Given the description of an element on the screen output the (x, y) to click on. 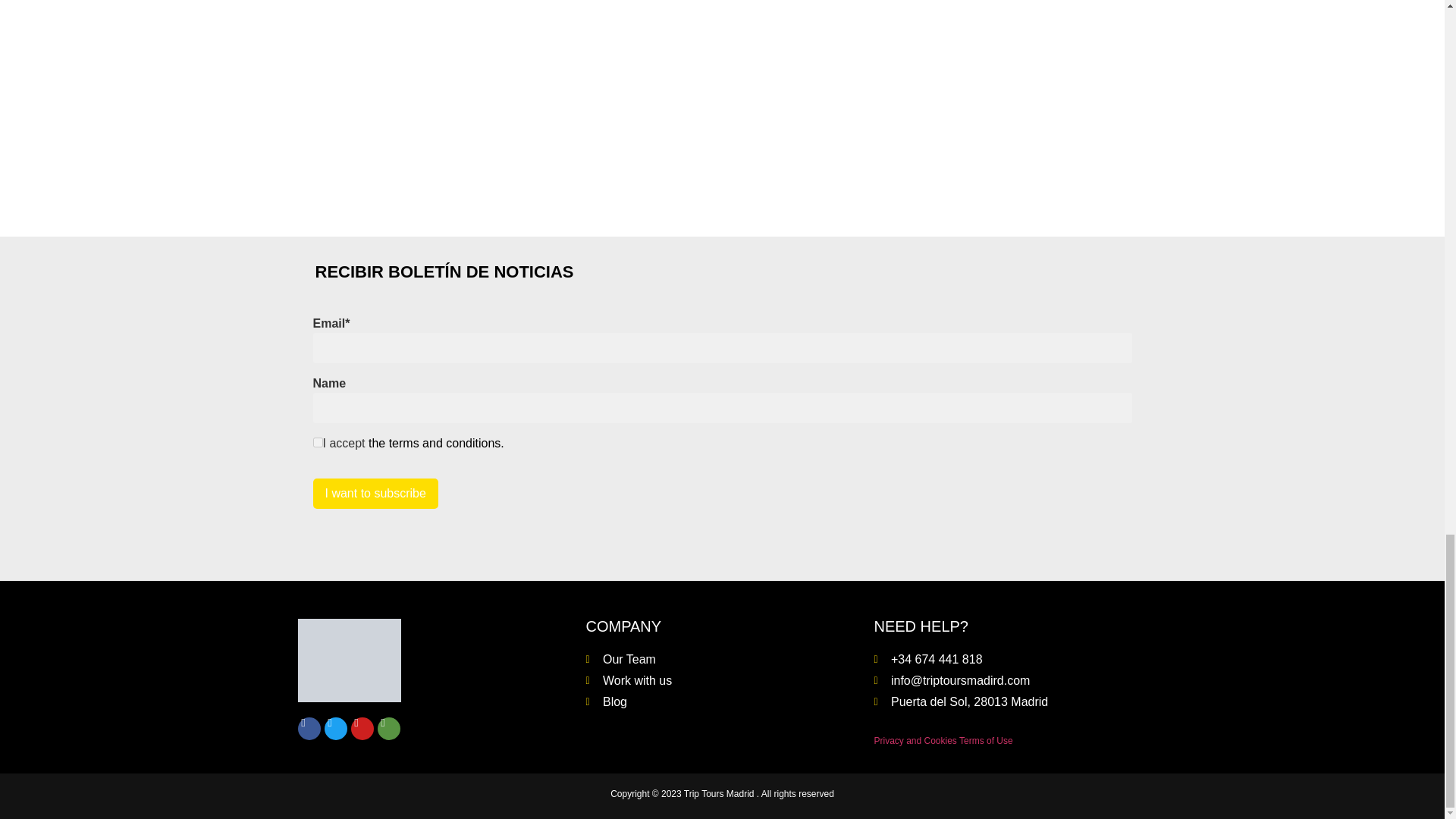
I want to subscribe (375, 493)
on (317, 442)
I want to subscribe (375, 493)
the terms and conditions. (435, 442)
